Given the description of an element on the screen output the (x, y) to click on. 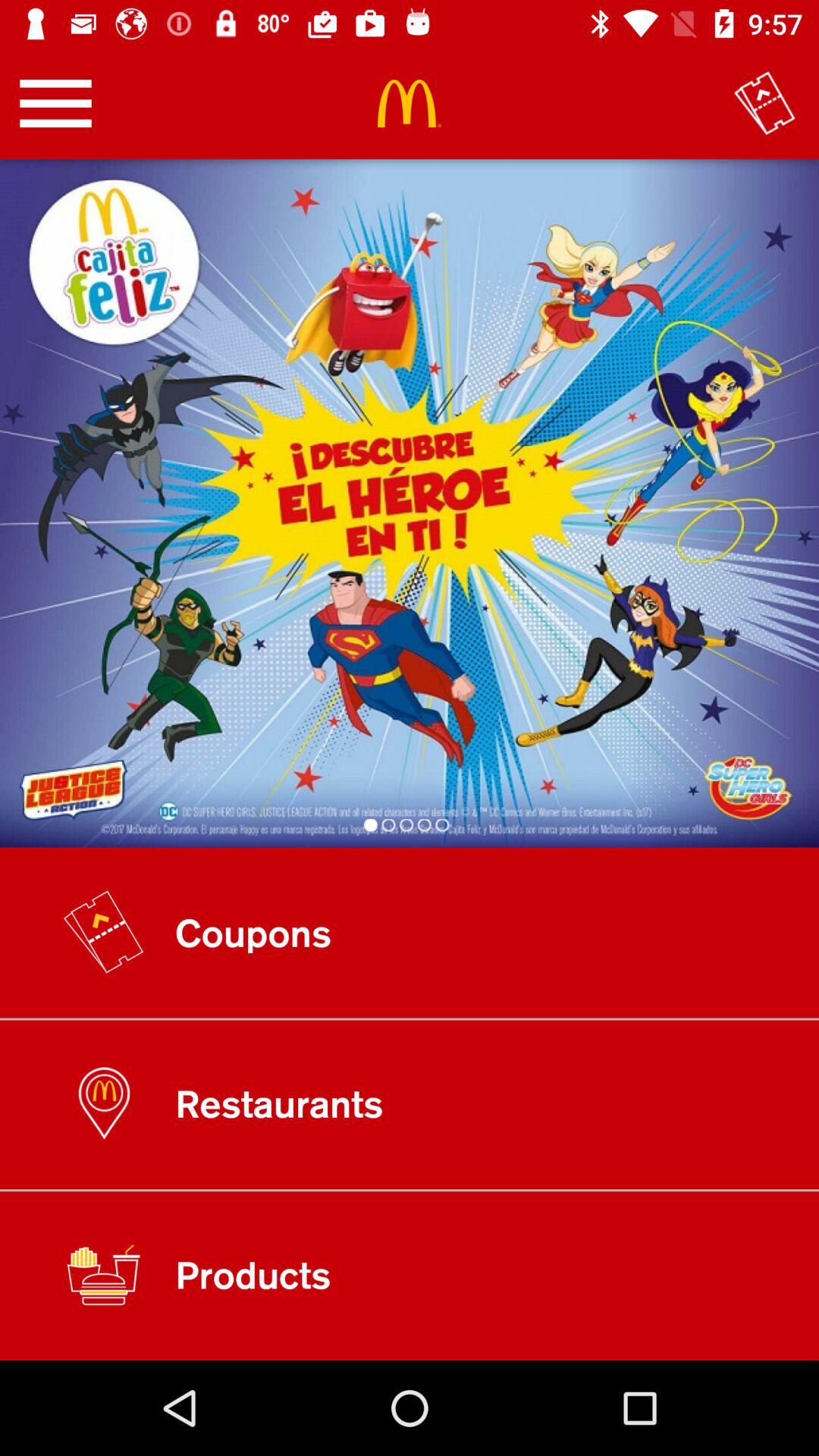
turn on item at the top right corner (764, 103)
